Given the description of an element on the screen output the (x, y) to click on. 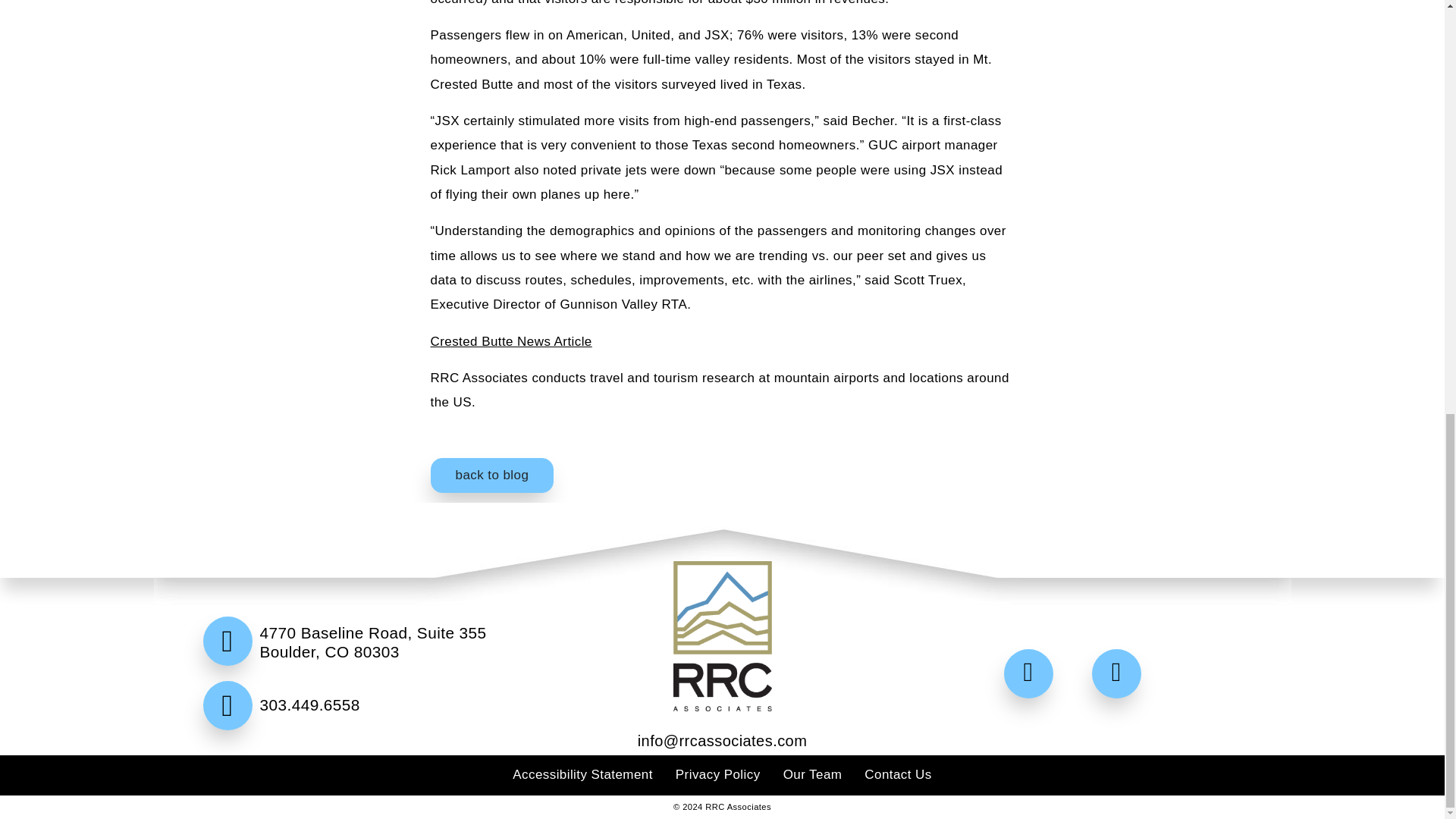
back to blog (492, 475)
Contact Us (897, 774)
4770 Baseline Road, Suite 355 Boulder, CO 80303 (368, 651)
Our Team (813, 774)
RRC Associates on LinkedIn (1120, 674)
Crested Butte News Article (511, 341)
RRC Associates on Twitter (1032, 674)
Accessibility Statement (582, 774)
303.449.6558 (368, 739)
Privacy Policy (717, 774)
